Given the description of an element on the screen output the (x, y) to click on. 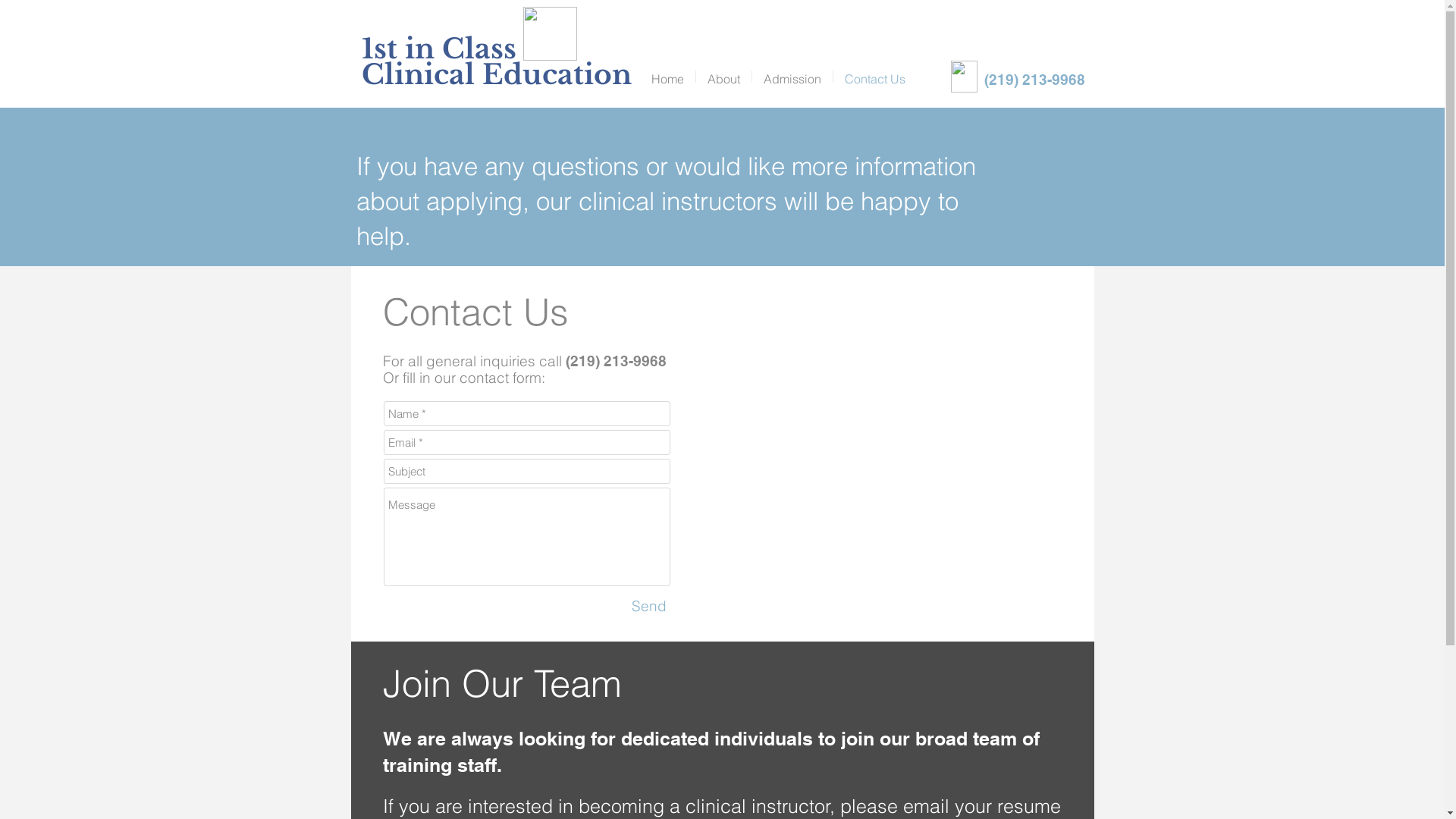
Clinical Education Element type: text (495, 74)
Admission Element type: text (792, 76)
About Element type: text (723, 76)
Send Element type: text (648, 605)
1st in Class Element type: text (437, 48)
Home Element type: text (667, 76)
Contact Us Element type: text (874, 76)
